Given the description of an element on the screen output the (x, y) to click on. 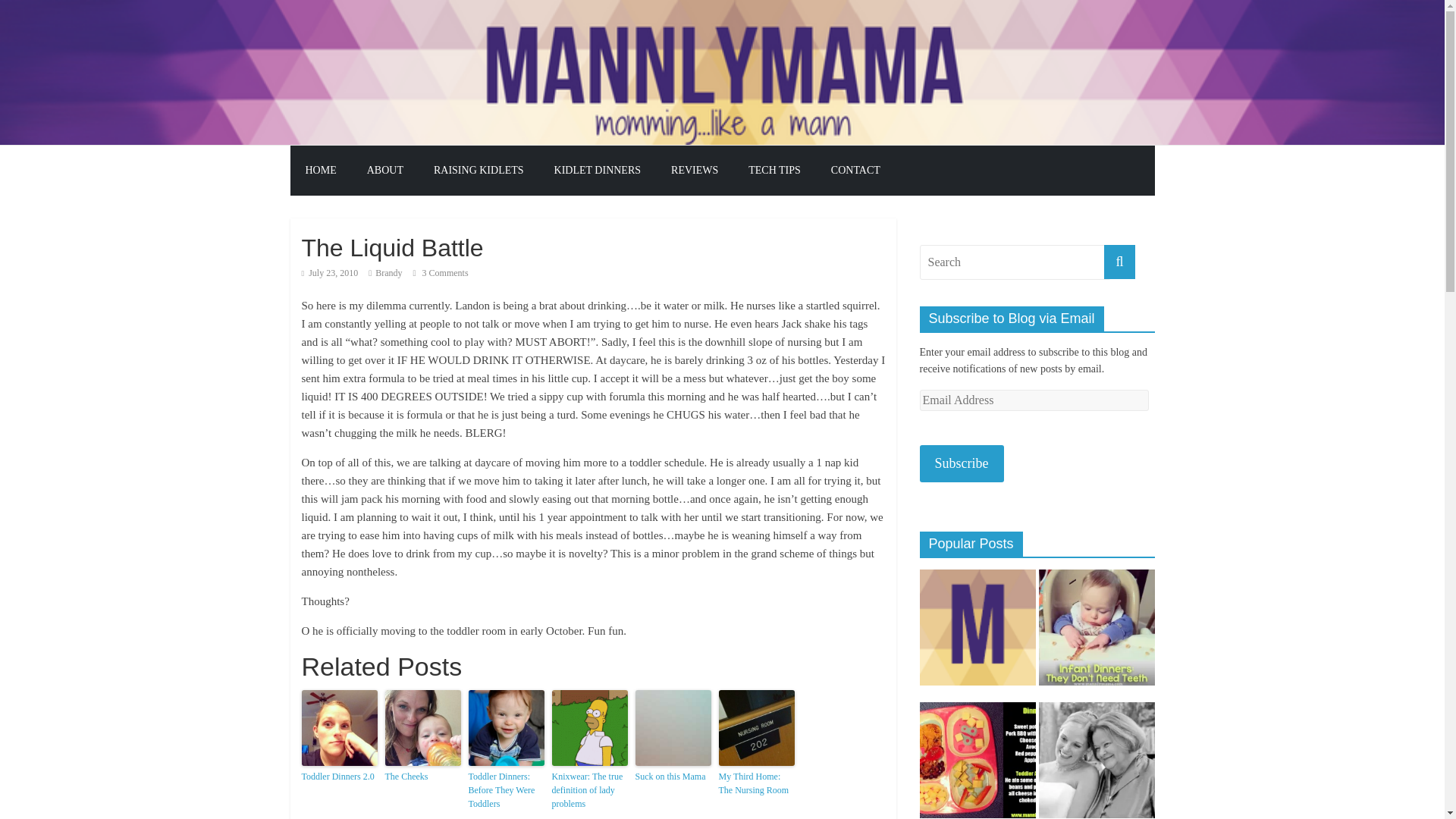
3 Comments (440, 272)
RAISING KIDLETS (478, 170)
CONTACT (855, 170)
KIDLET DINNERS (597, 170)
Suck on this Mama (672, 775)
The Cheeks (423, 775)
July 23, 2010 (329, 272)
HOME (319, 170)
Toddler Dinners: Before They Were Toddlers (506, 789)
Subscribe (960, 463)
Toddler Dinners 2.0 (339, 775)
7:28 am (329, 272)
My Third Home: The Nursing Room (756, 782)
TECH TIPS (774, 170)
ABOUT (385, 170)
